Given the description of an element on the screen output the (x, y) to click on. 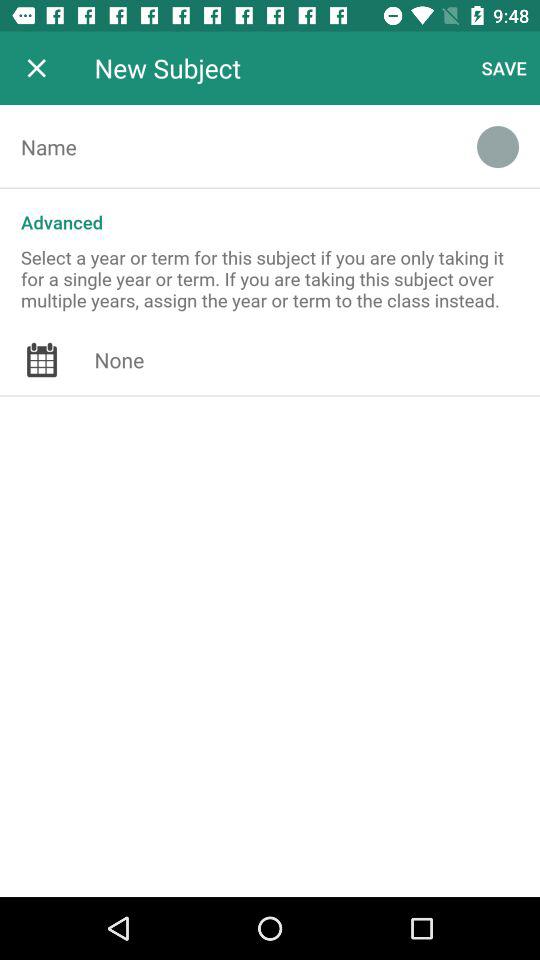
choose the icon at the center (317, 359)
